Given the description of an element on the screen output the (x, y) to click on. 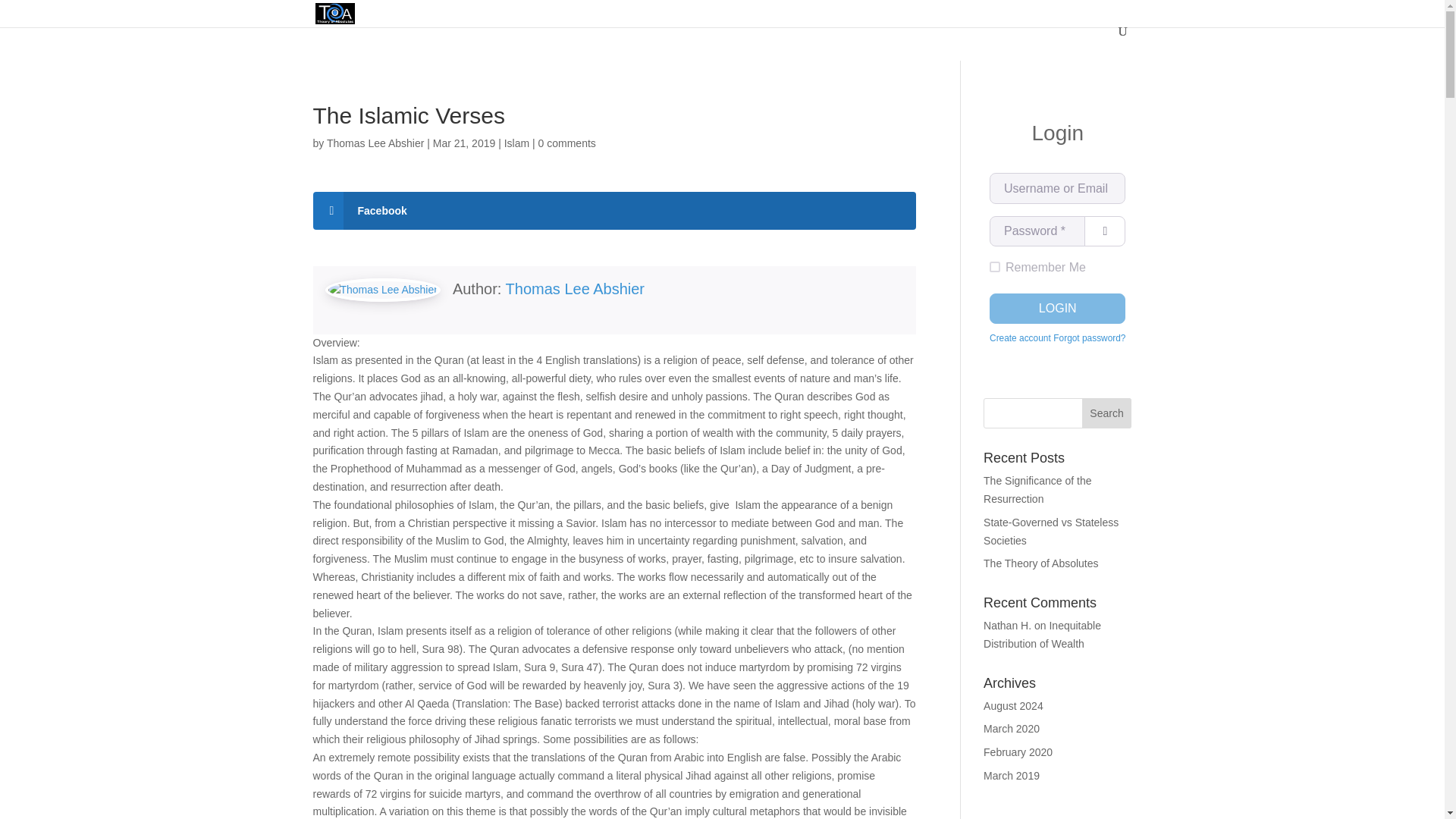
0 comments (566, 143)
Islam (516, 143)
The Theory of Absolutes (1041, 563)
Password (1037, 231)
The Significance of the Resurrection (1037, 490)
Facebook (614, 210)
LOGIN (1057, 308)
Forgot password? (1088, 339)
forever (995, 266)
March 2020 (1011, 728)
